Given the description of an element on the screen output the (x, y) to click on. 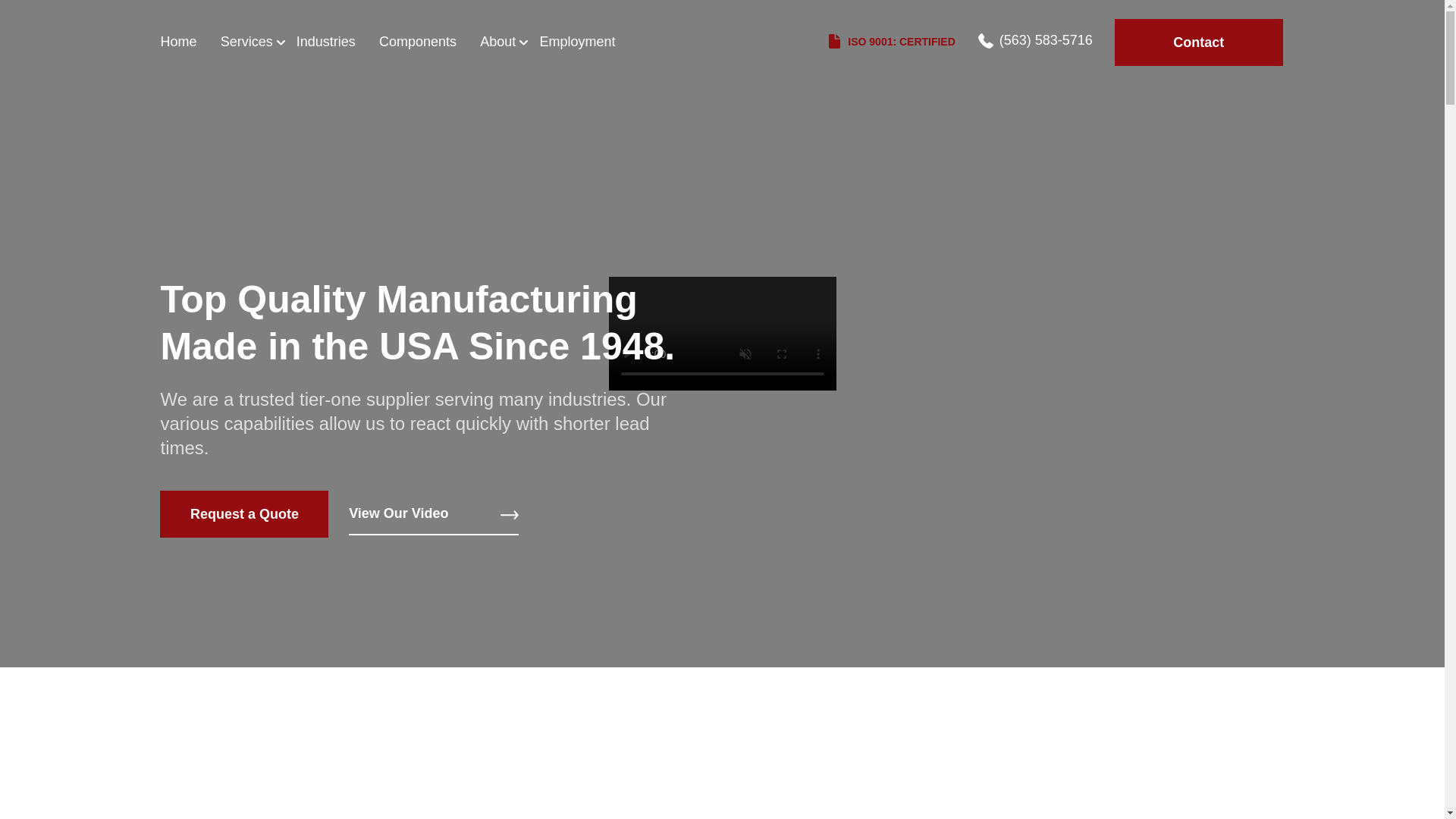
View Our Video (433, 514)
Contact (1198, 42)
Services (247, 42)
Components (417, 42)
Industries (326, 42)
About (497, 42)
Request a Quote (244, 513)
Home (178, 42)
Employment (576, 42)
ISO 9001: CERTIFIED (891, 41)
